Given the description of an element on the screen output the (x, y) to click on. 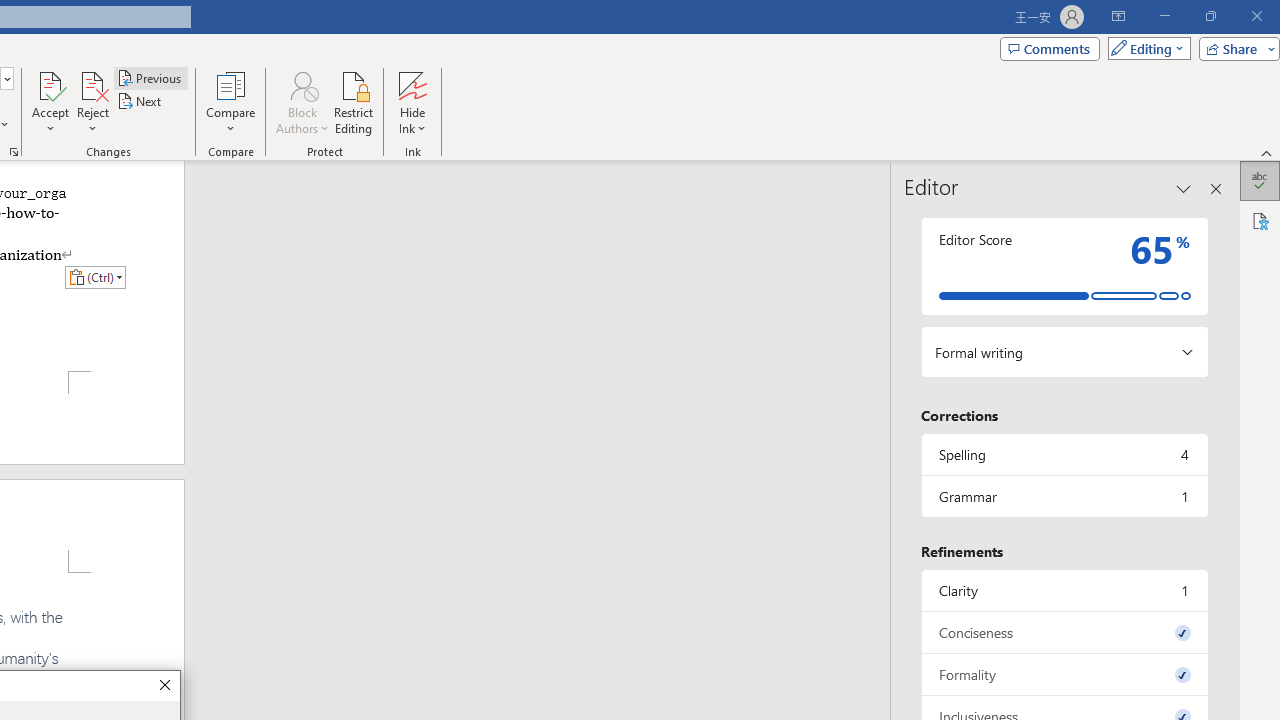
Conciseness, 0 issues. Press space or enter to review items. (1064, 632)
Editing (1144, 47)
Block Authors (302, 84)
Grammar, 1 issue. Press space or enter to review items. (1064, 495)
Reject (92, 102)
